Given the description of an element on the screen output the (x, y) to click on. 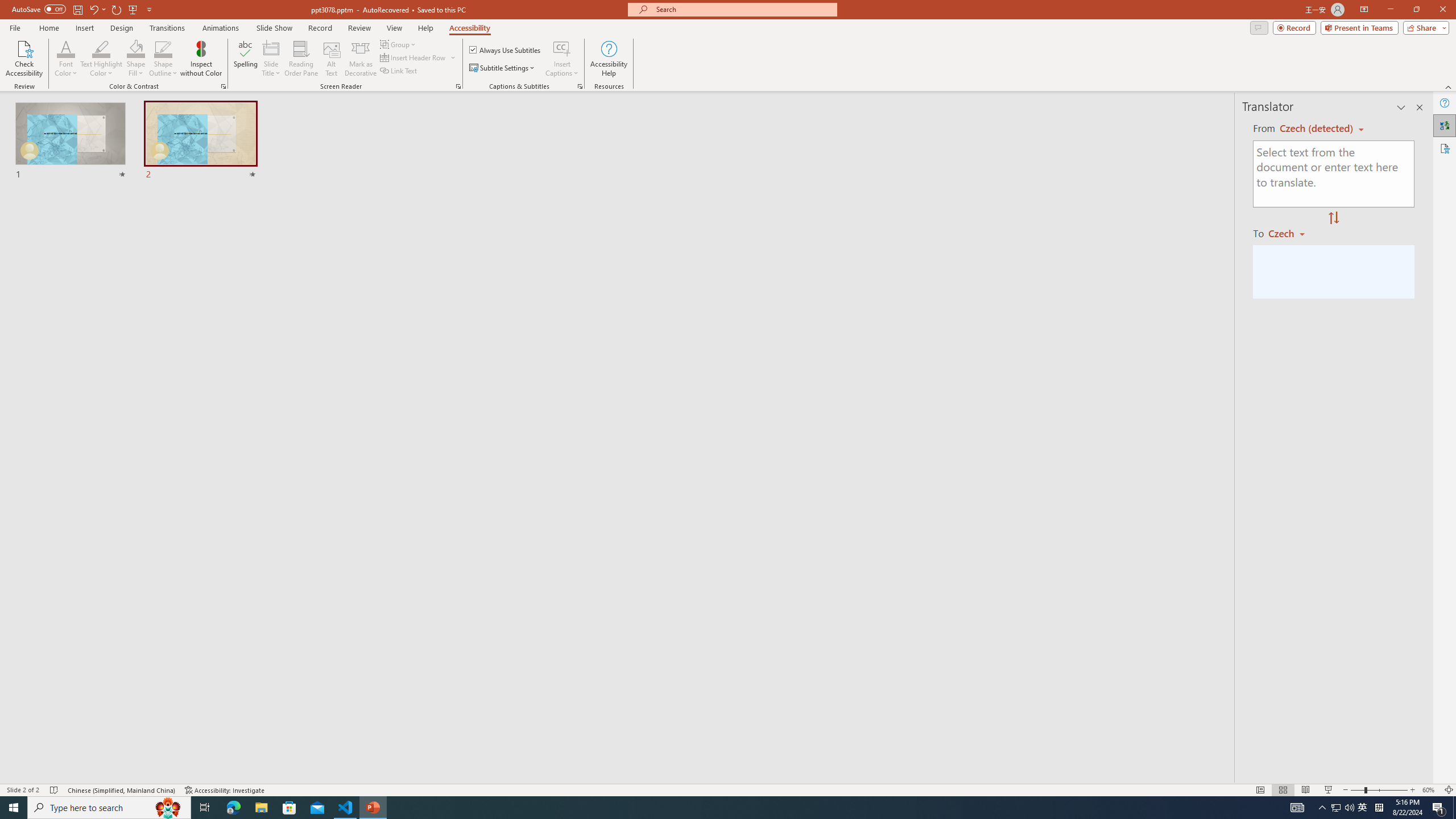
Zoom 60% (1430, 790)
Group (398, 44)
